Given the description of an element on the screen output the (x, y) to click on. 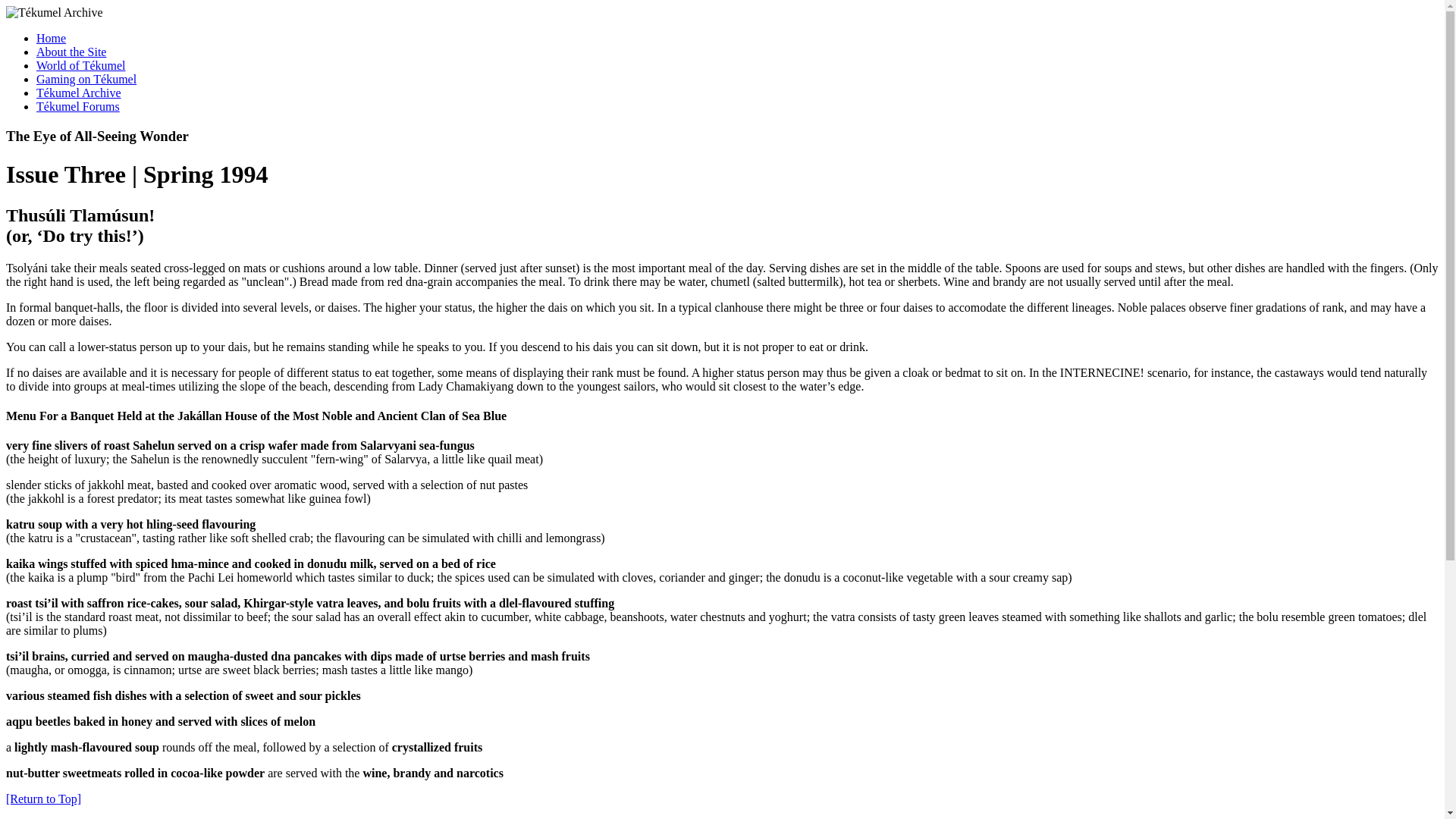
Home (71, 51)
